Given the description of an element on the screen output the (x, y) to click on. 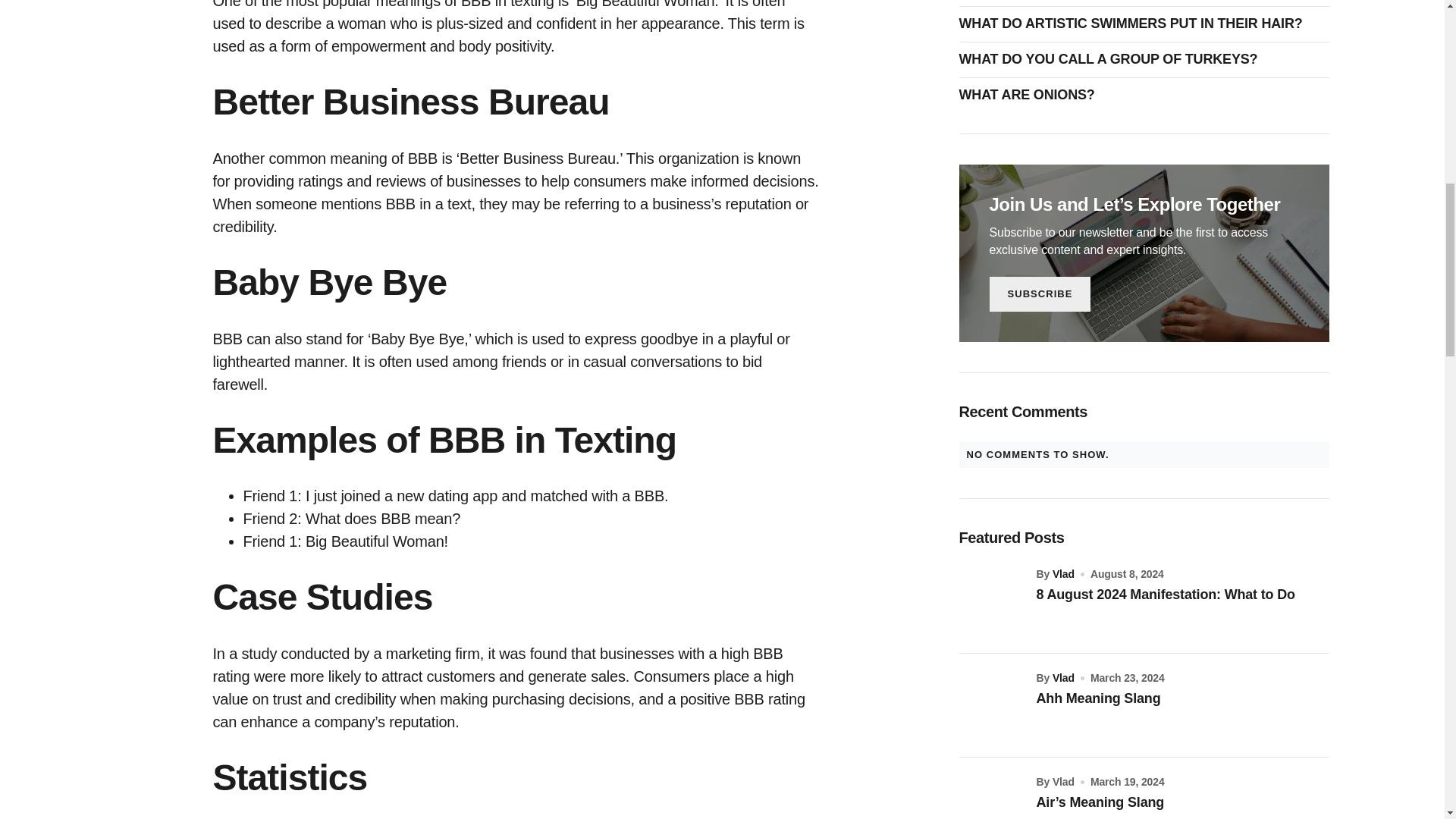
WHAT DO ARTISTIC SWIMMERS PUT IN THEIR HAIR? (1134, 23)
WHAT DO YOU CALL A GROUP OF TURKEYS? (1111, 59)
WHAT ARE ONIONS? (1030, 95)
